Given the description of an element on the screen output the (x, y) to click on. 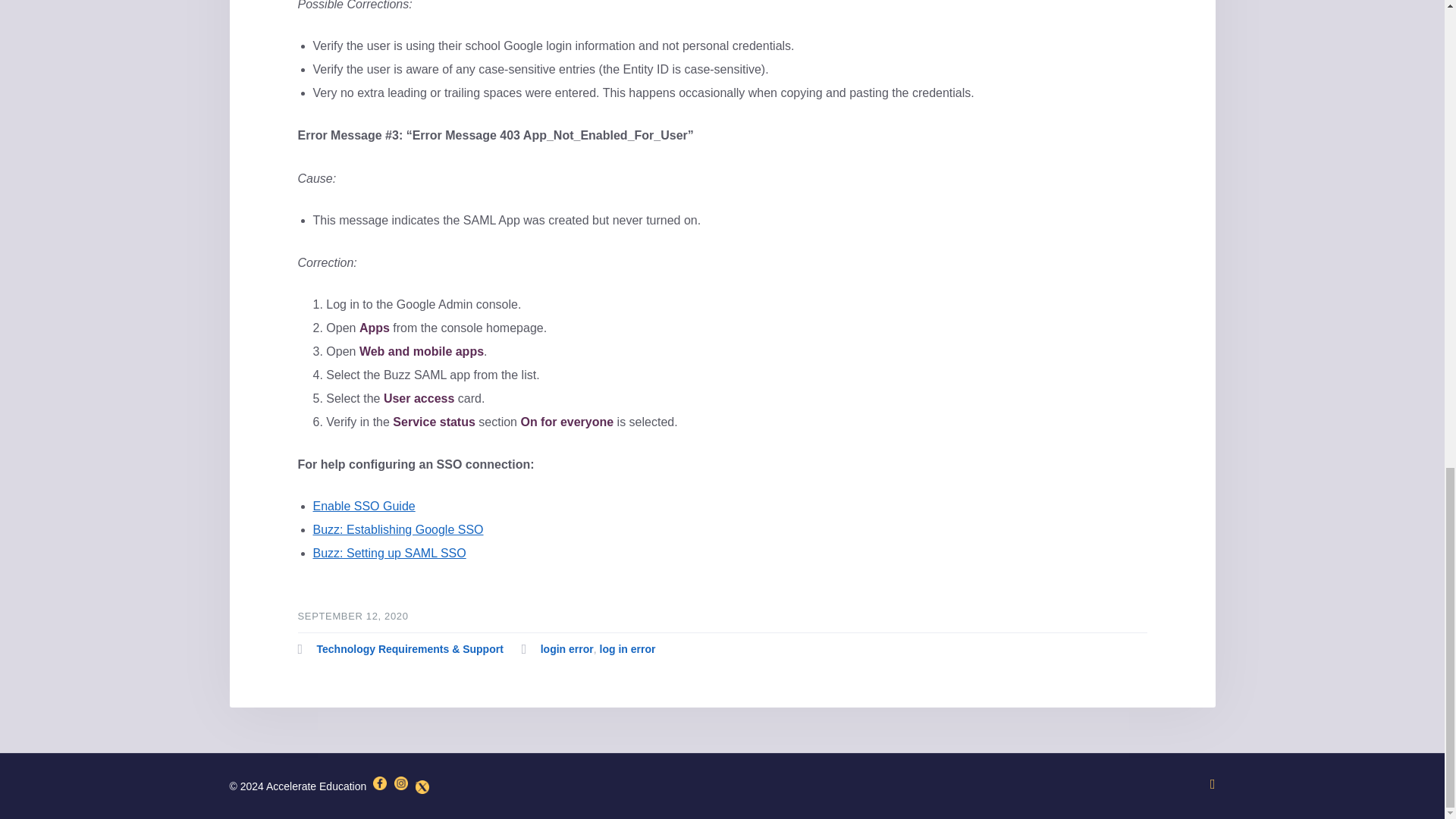
Enable SSO Guide (363, 505)
log in error (626, 648)
Buzz: Setting up SAML SSO (389, 553)
login error (567, 648)
Buzz: Establishing Google SSO (398, 529)
